Given the description of an element on the screen output the (x, y) to click on. 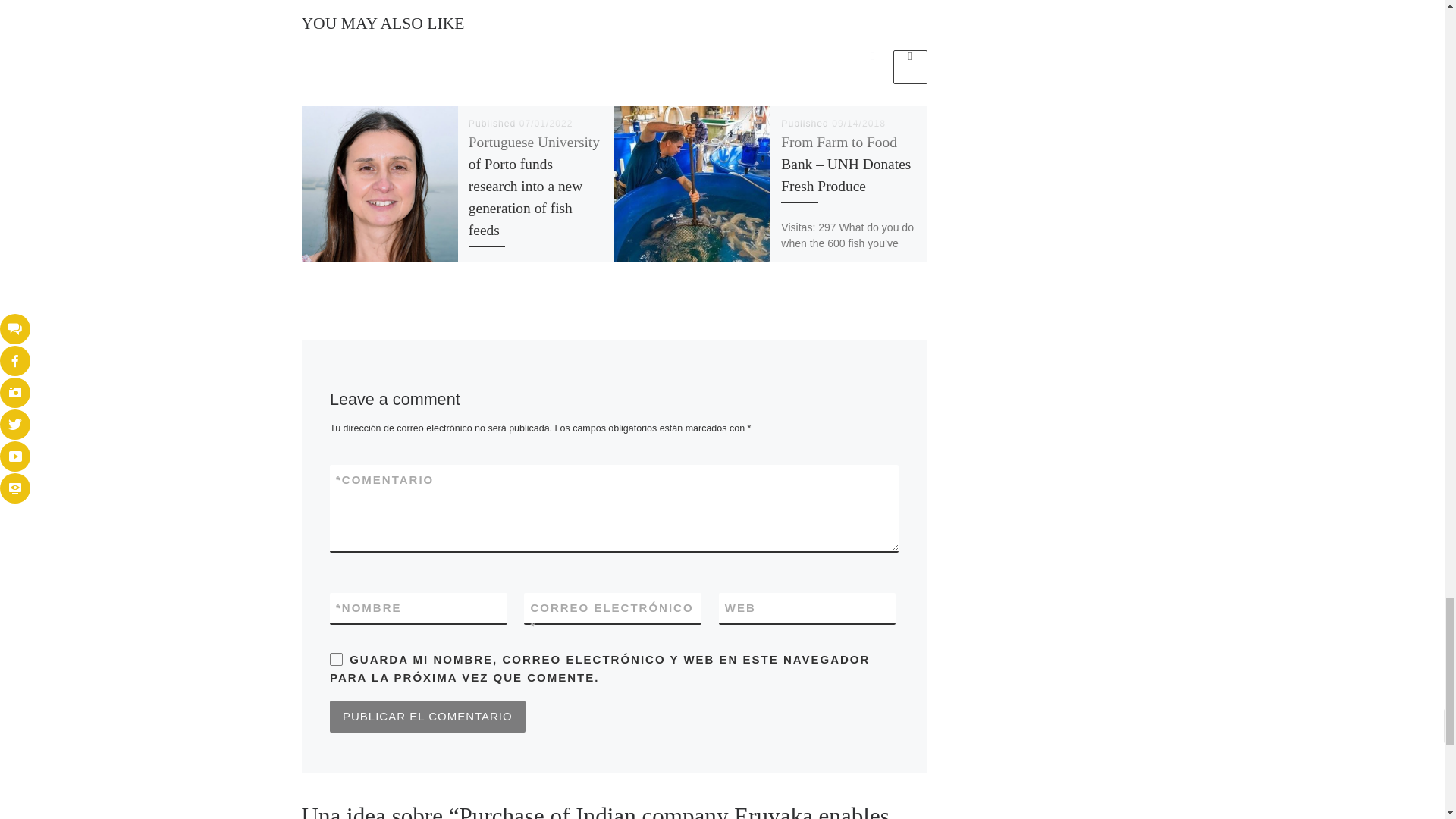
yes (336, 658)
Publicar el comentario (427, 716)
